Given the description of an element on the screen output the (x, y) to click on. 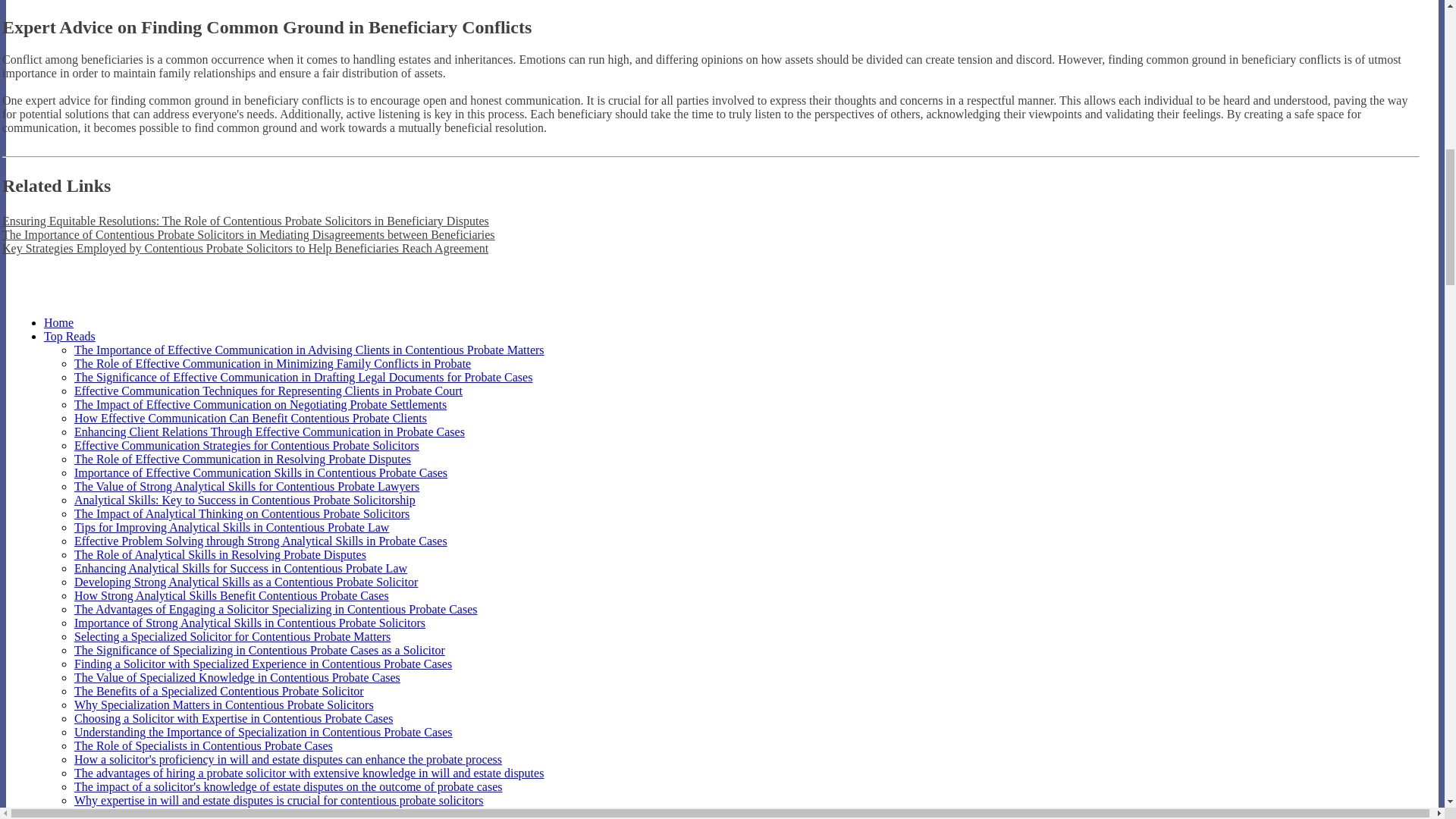
Home (58, 322)
The Benefits of a Specialized Contentious Probate Solicitor (219, 690)
